Given the description of an element on the screen output the (x, y) to click on. 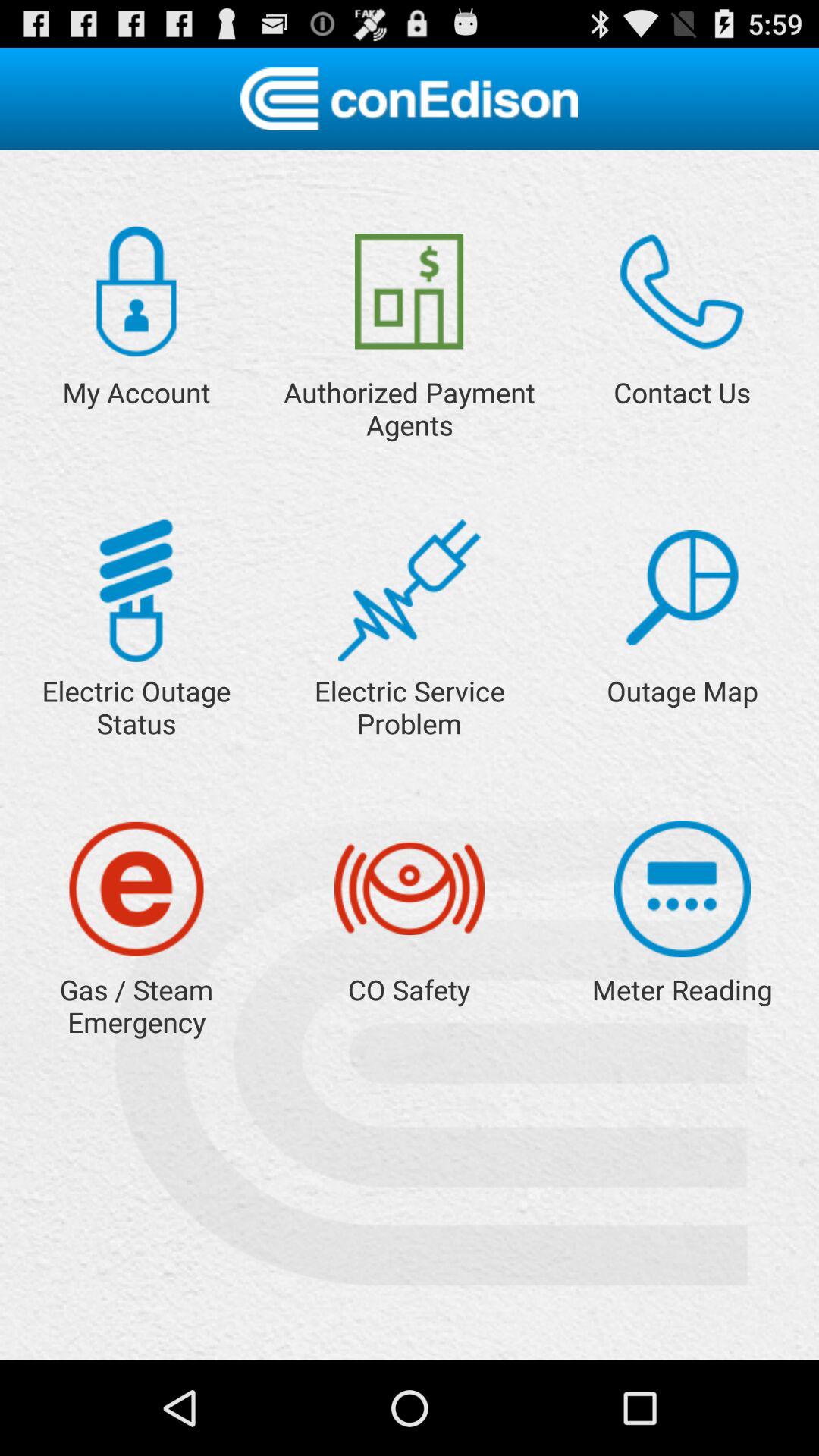
open meter reading page (682, 888)
